Given the description of an element on the screen output the (x, y) to click on. 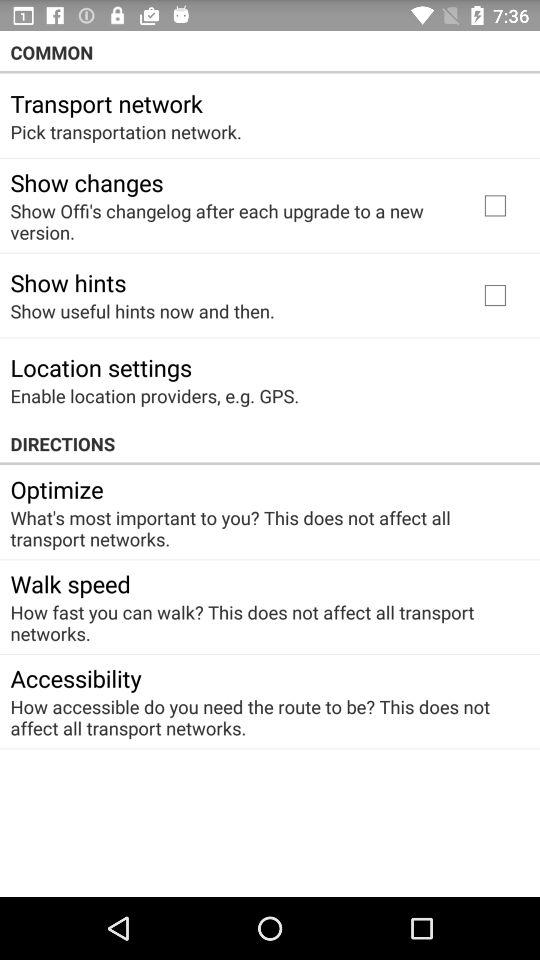
launch directions app (270, 444)
